Given the description of an element on the screen output the (x, y) to click on. 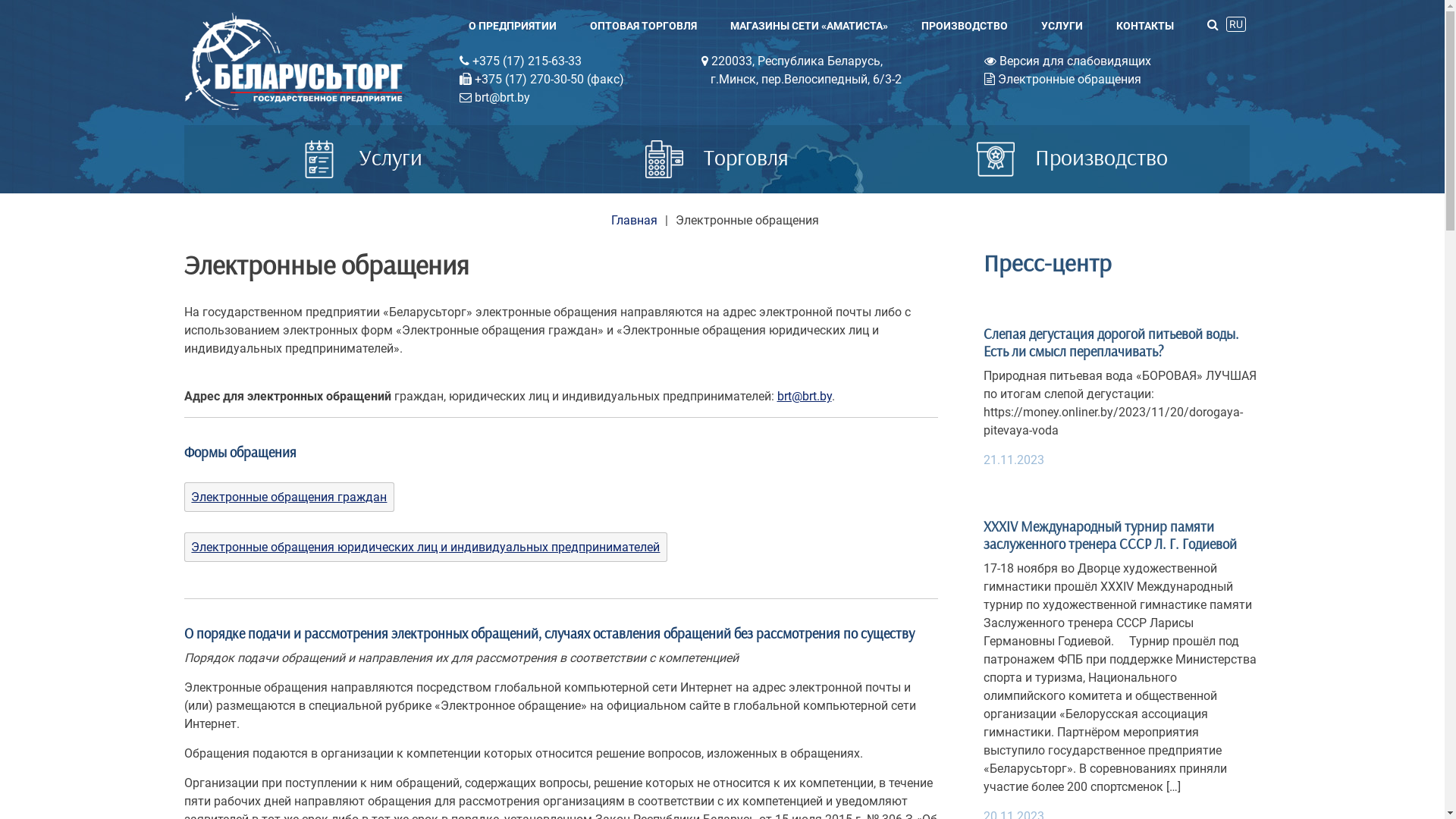
brt@brt.by Element type: text (494, 97)
+375 (17) 215-63-33 Element type: text (520, 60)
RU Element type: text (1235, 23)
brt@brt.by Element type: text (803, 396)
